Given the description of an element on the screen output the (x, y) to click on. 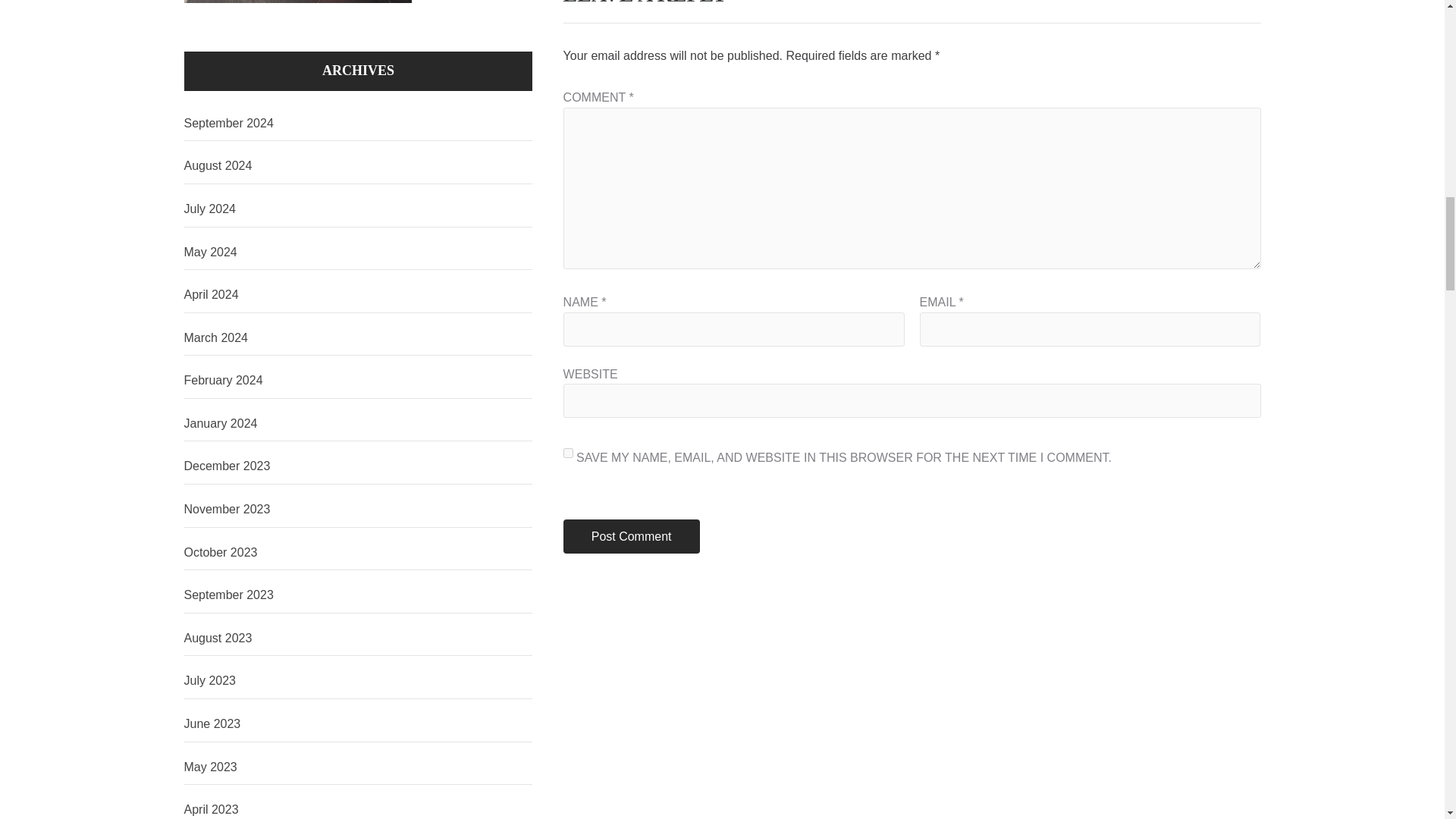
September 2024 (357, 123)
January 2024 (357, 424)
Post Comment (631, 536)
August 2024 (357, 166)
March 2024 (357, 338)
July 2024 (357, 209)
Post Comment (631, 536)
May 2024 (357, 253)
February 2024 (357, 380)
April 2024 (357, 294)
